Given the description of an element on the screen output the (x, y) to click on. 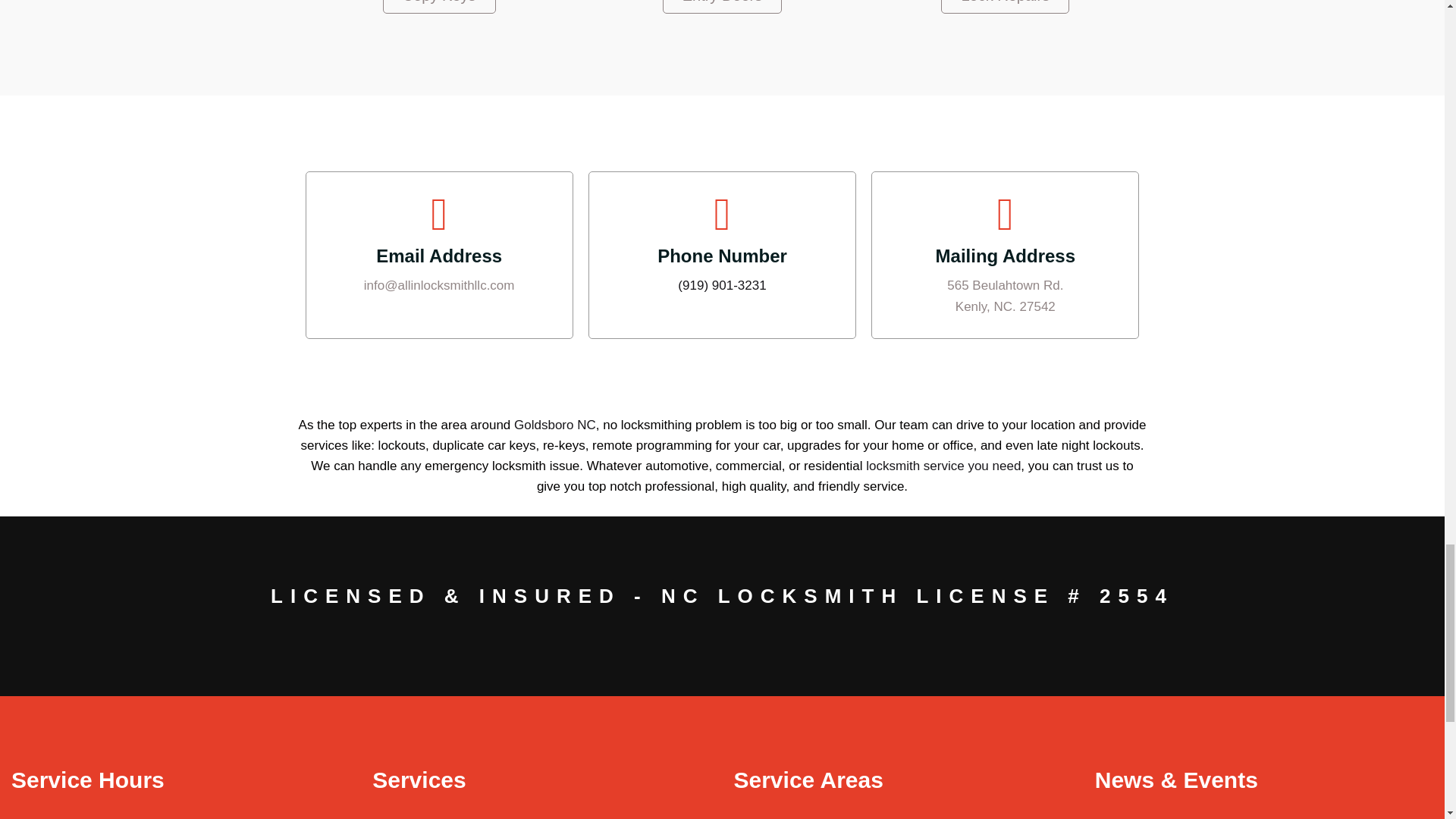
Lock Repairs (1004, 6)
Entry Doors (722, 6)
Copy Keys (439, 6)
